Given the description of an element on the screen output the (x, y) to click on. 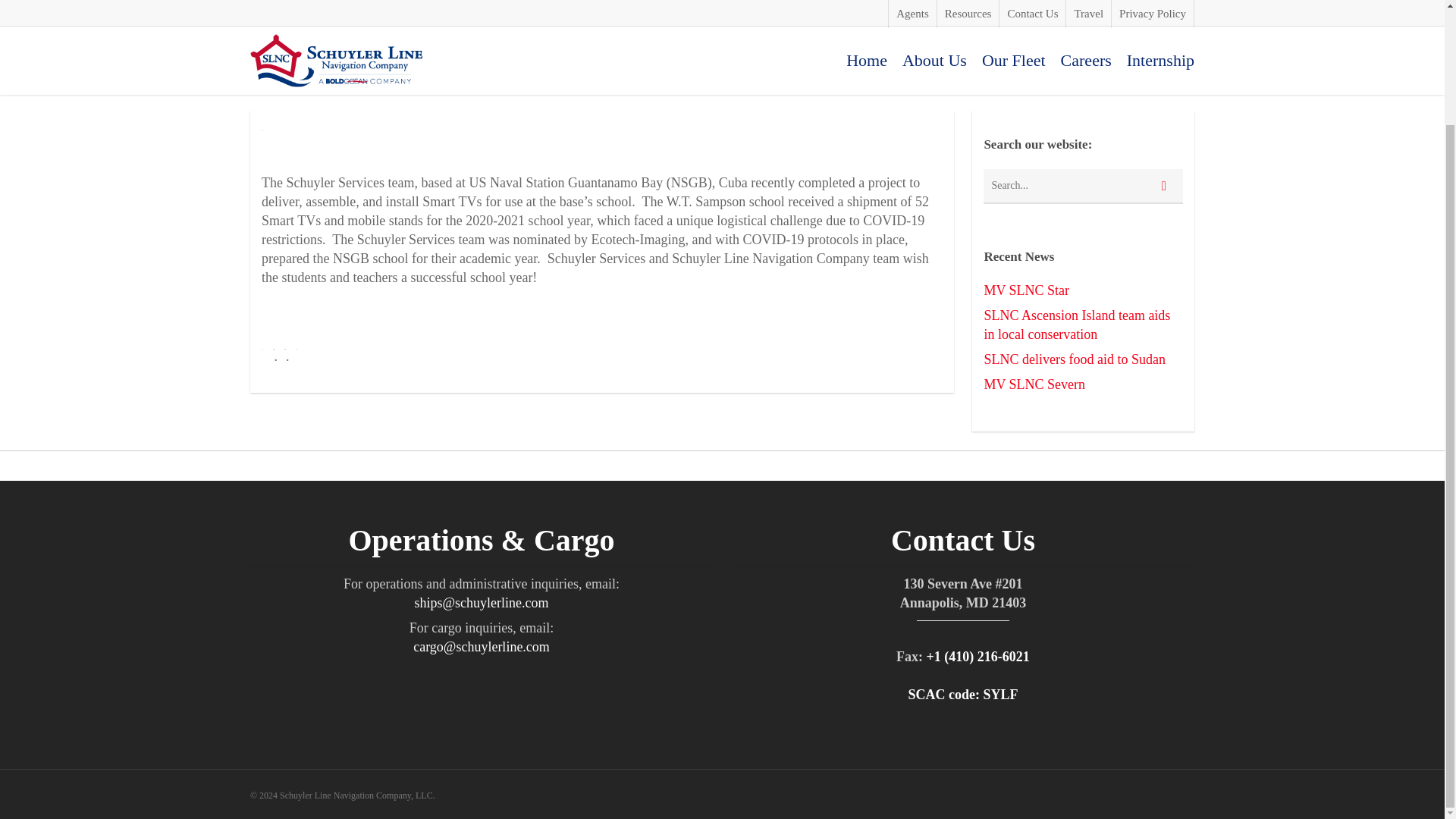
No Comments (556, 51)
News (395, 51)
Schuyler Line (313, 51)
SLNC delivers food aid to Sudan (1083, 359)
MV SLNC Star (1083, 290)
Uncategorized (450, 51)
Posts by Schuyler Line (313, 51)
Search for: (1083, 185)
SLNC Ascension Island team aids in local conservation (1083, 324)
MV SLNC Severn (1083, 384)
